Given the description of an element on the screen output the (x, y) to click on. 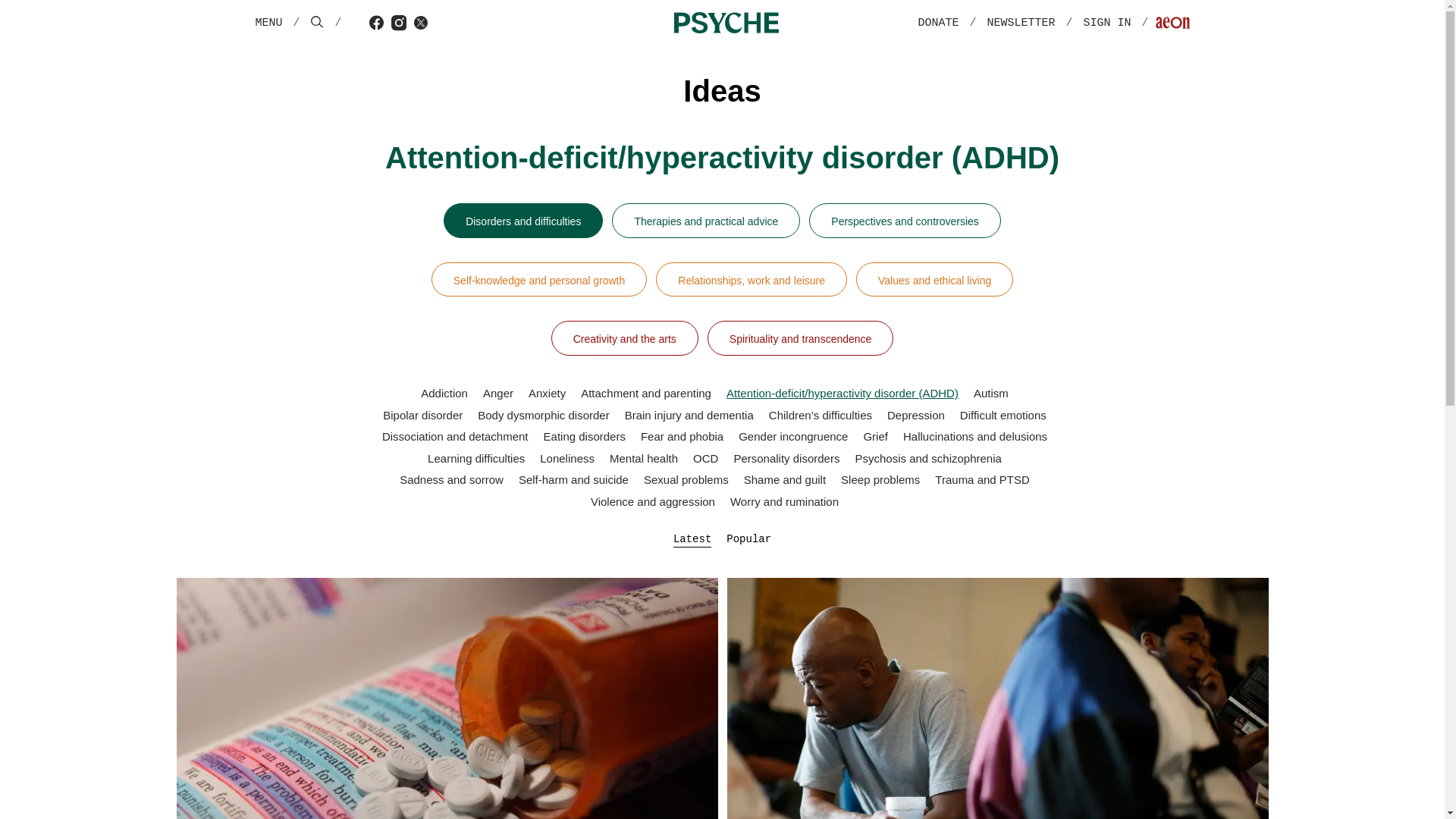
Autism (991, 393)
Brain injury and dementia (689, 413)
DONATE (937, 23)
Spirituality and transcendence (800, 338)
Self-knowledge and personal growth (538, 279)
Creativity and the arts (624, 338)
Relationships, work and leisure (751, 279)
Values and ethical living (934, 279)
Attachment and parenting (645, 393)
Anxiety (547, 393)
Aeon (1172, 24)
Anger (498, 393)
Ideas (721, 90)
Disorders and difficulties (523, 220)
Addiction (443, 393)
